Given the description of an element on the screen output the (x, y) to click on. 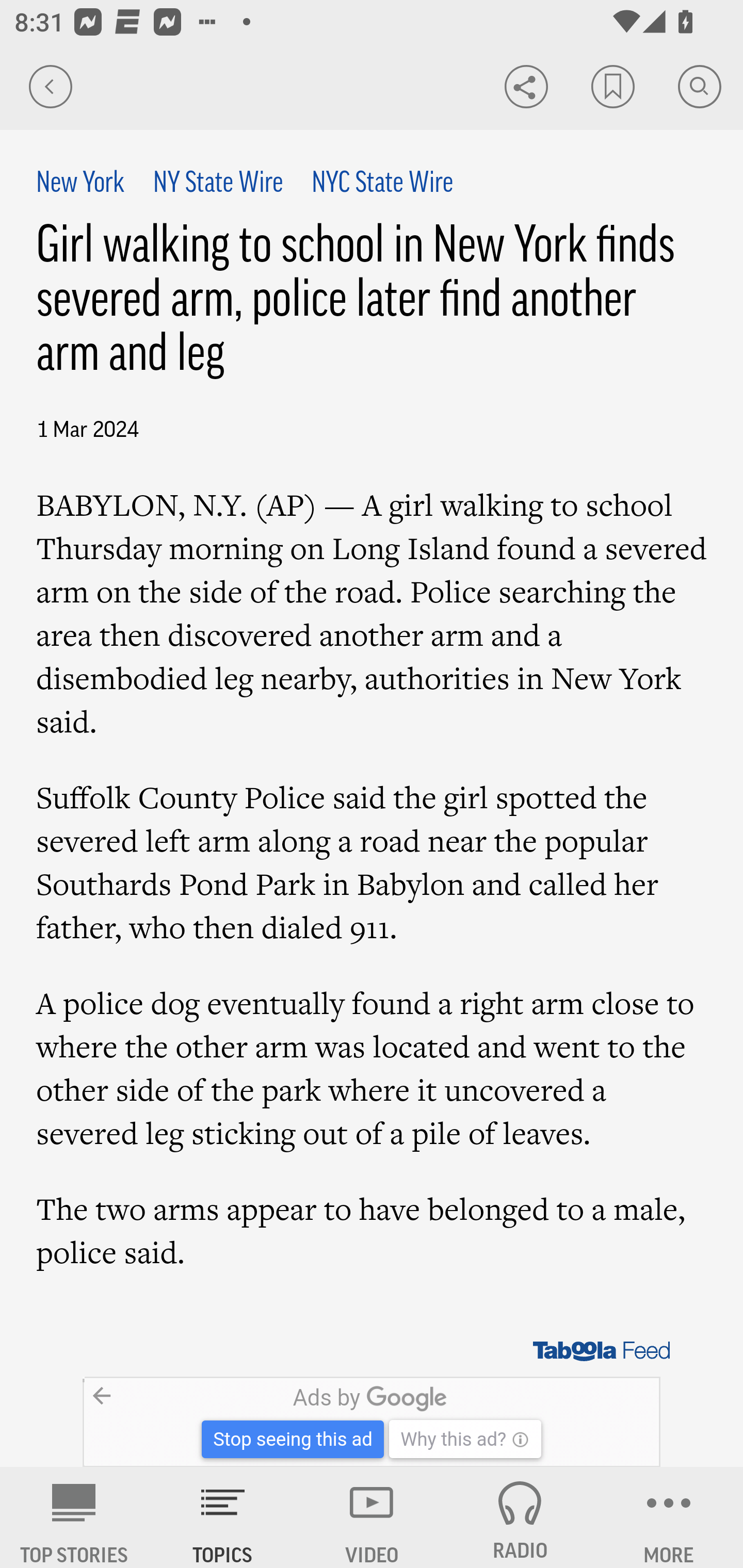
New York (81, 184)
NY State Wire (217, 184)
NYC State Wire (382, 184)
AP News TOP STORIES (74, 1517)
TOPICS (222, 1517)
VIDEO (371, 1517)
RADIO (519, 1517)
MORE (668, 1517)
